Given the description of an element on the screen output the (x, y) to click on. 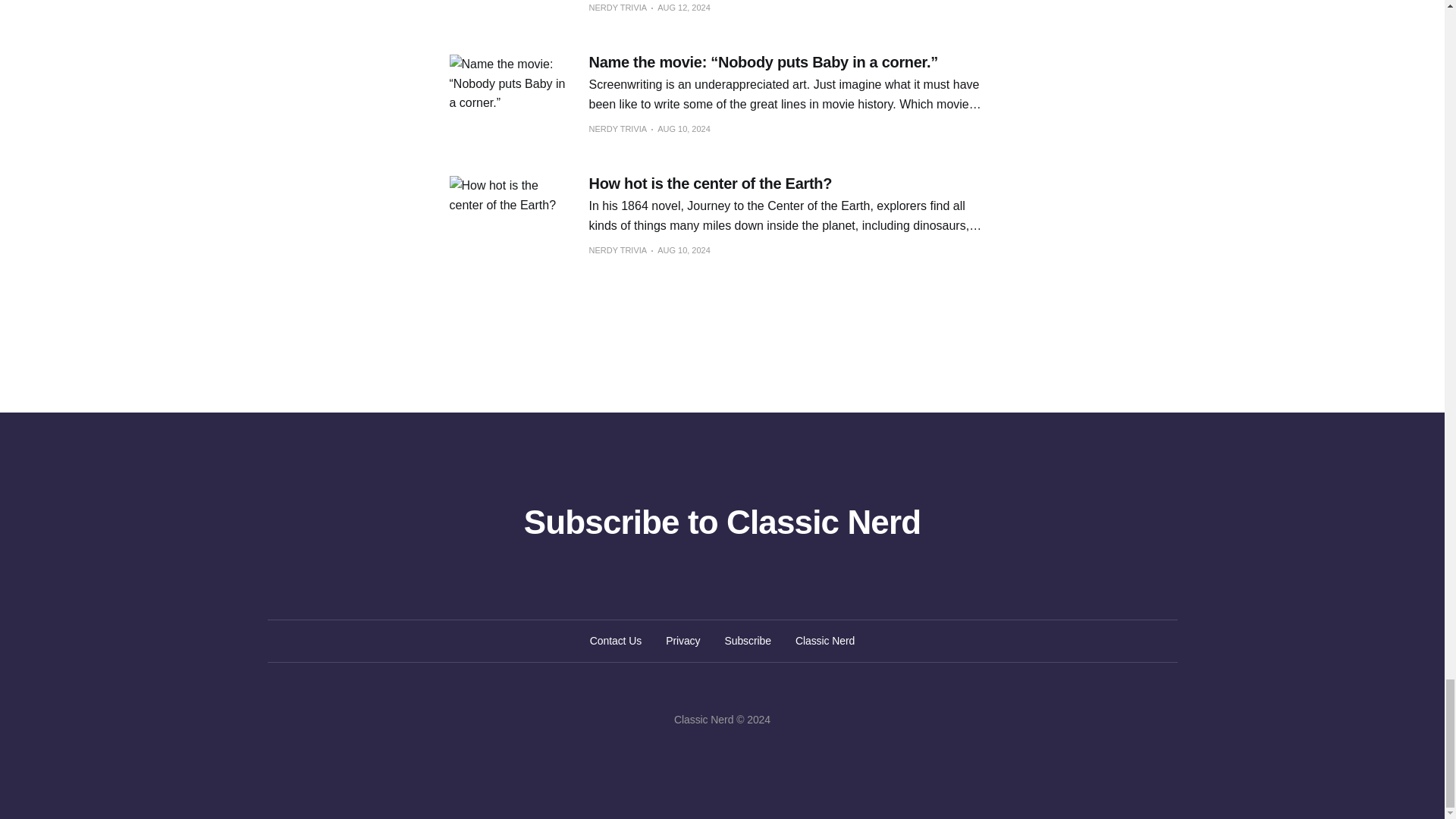
Privacy (682, 640)
Classic Nerd (824, 640)
Contact Us (615, 640)
Subscribe (747, 640)
